Given the description of an element on the screen output the (x, y) to click on. 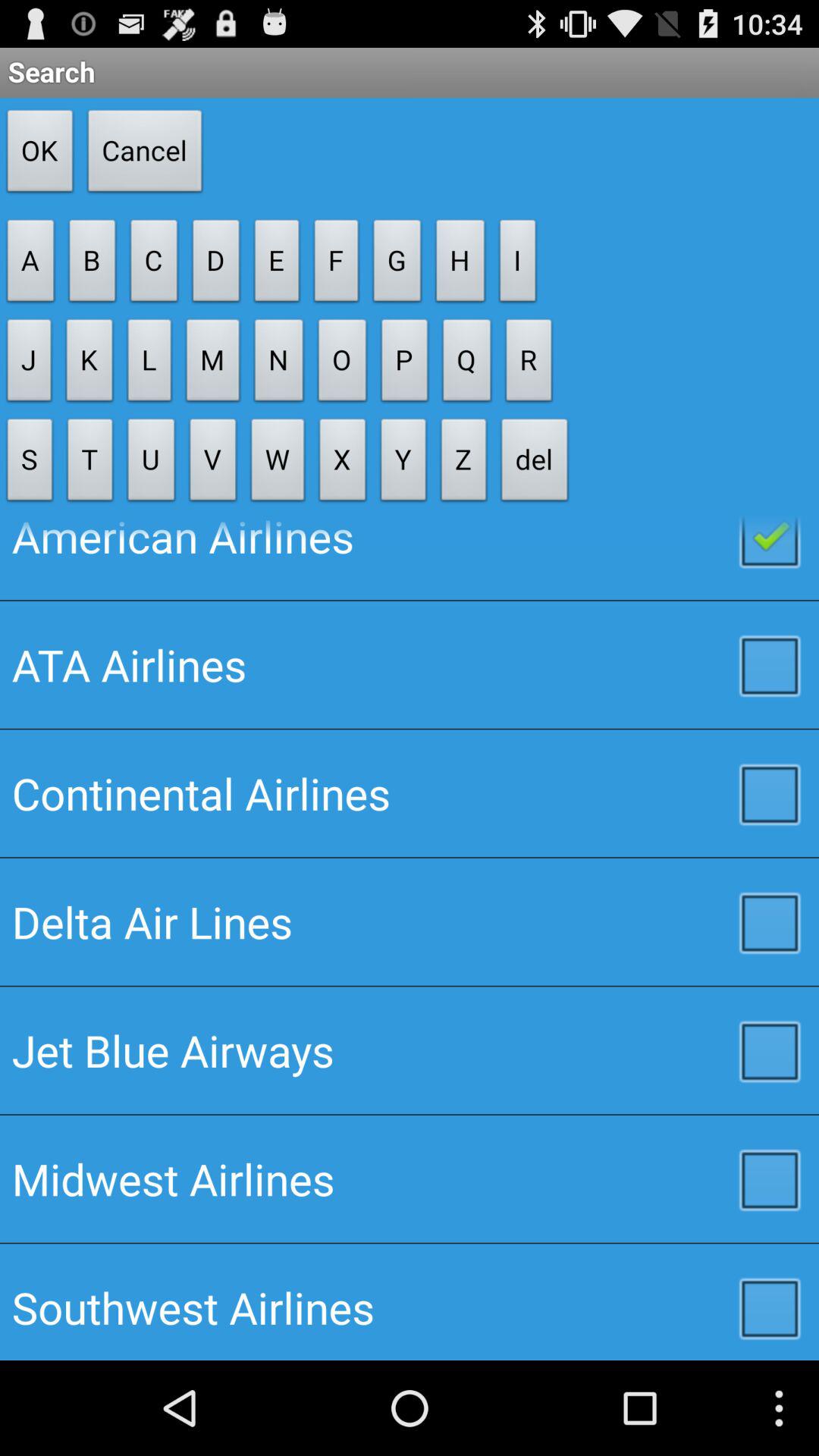
turn on item next to the p item (463, 463)
